Given the description of an element on the screen output the (x, y) to click on. 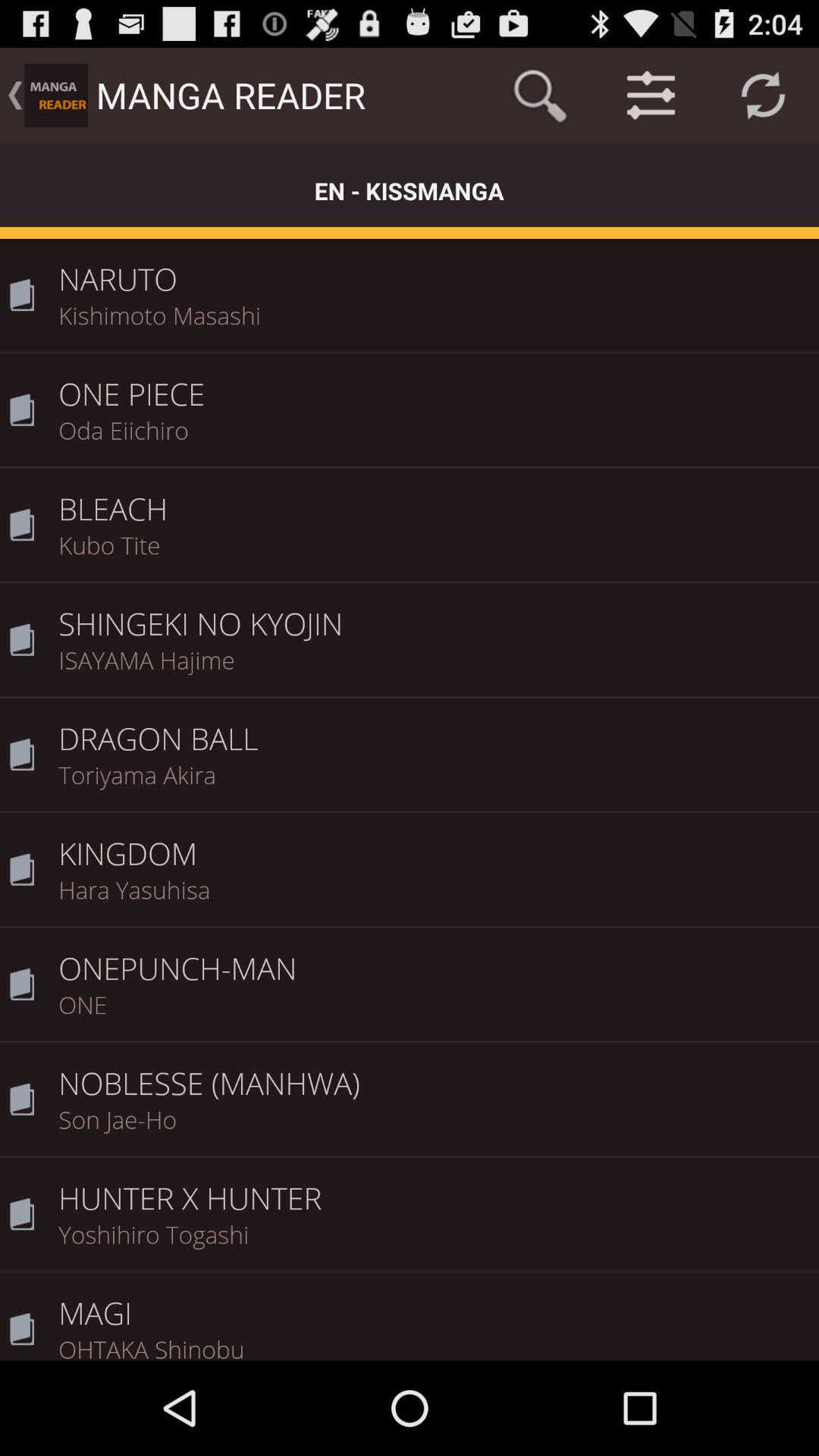
flip until shingeki no kyojin (433, 613)
